Given the description of an element on the screen output the (x, y) to click on. 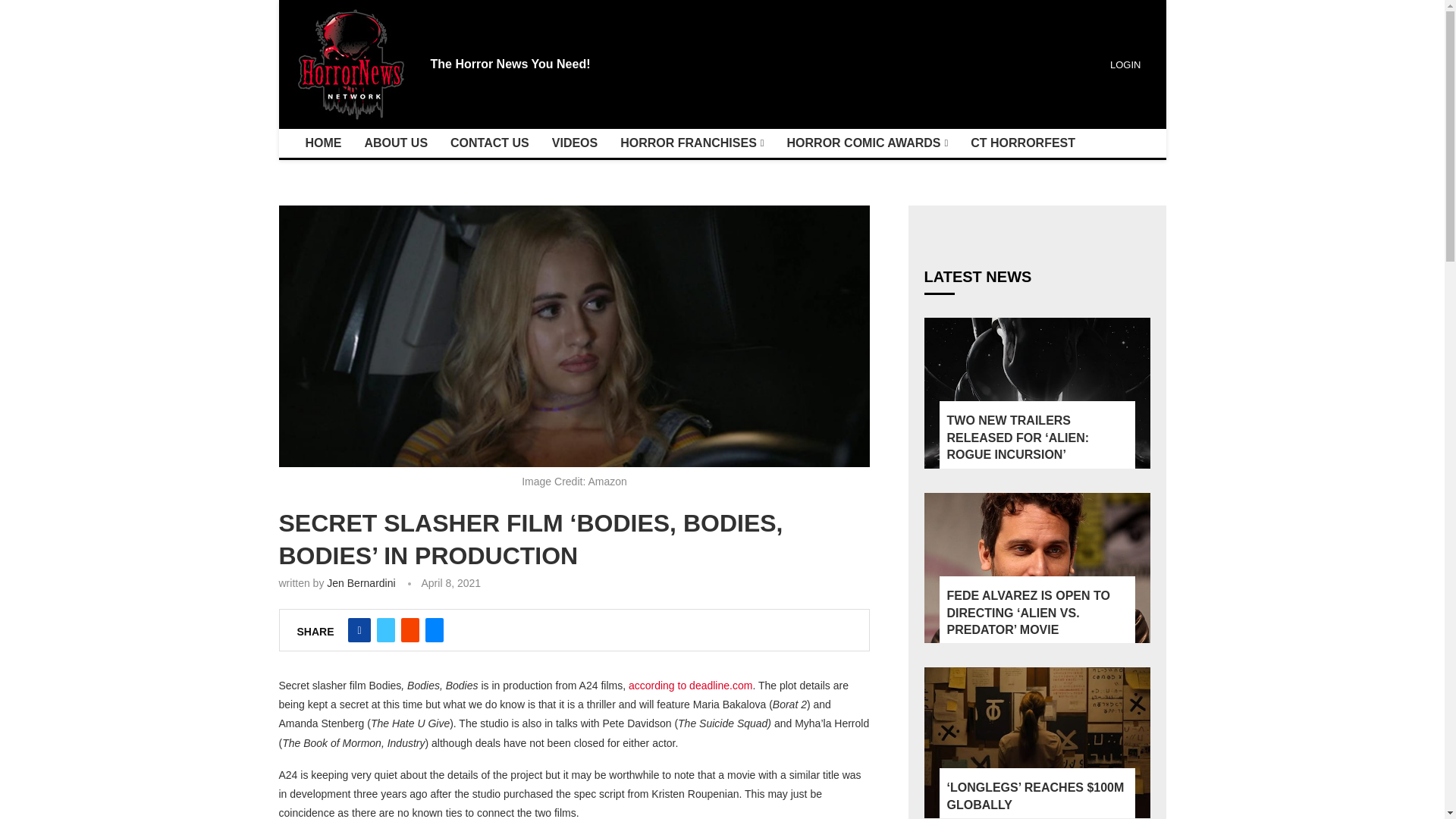
HOME (323, 143)
VIDEOS (574, 143)
LOGIN (1123, 64)
CONTACT US (489, 143)
ABOUT US (396, 143)
The Horror News You Need! (510, 63)
HORROR FRANCHISES (691, 143)
